Given the description of an element on the screen output the (x, y) to click on. 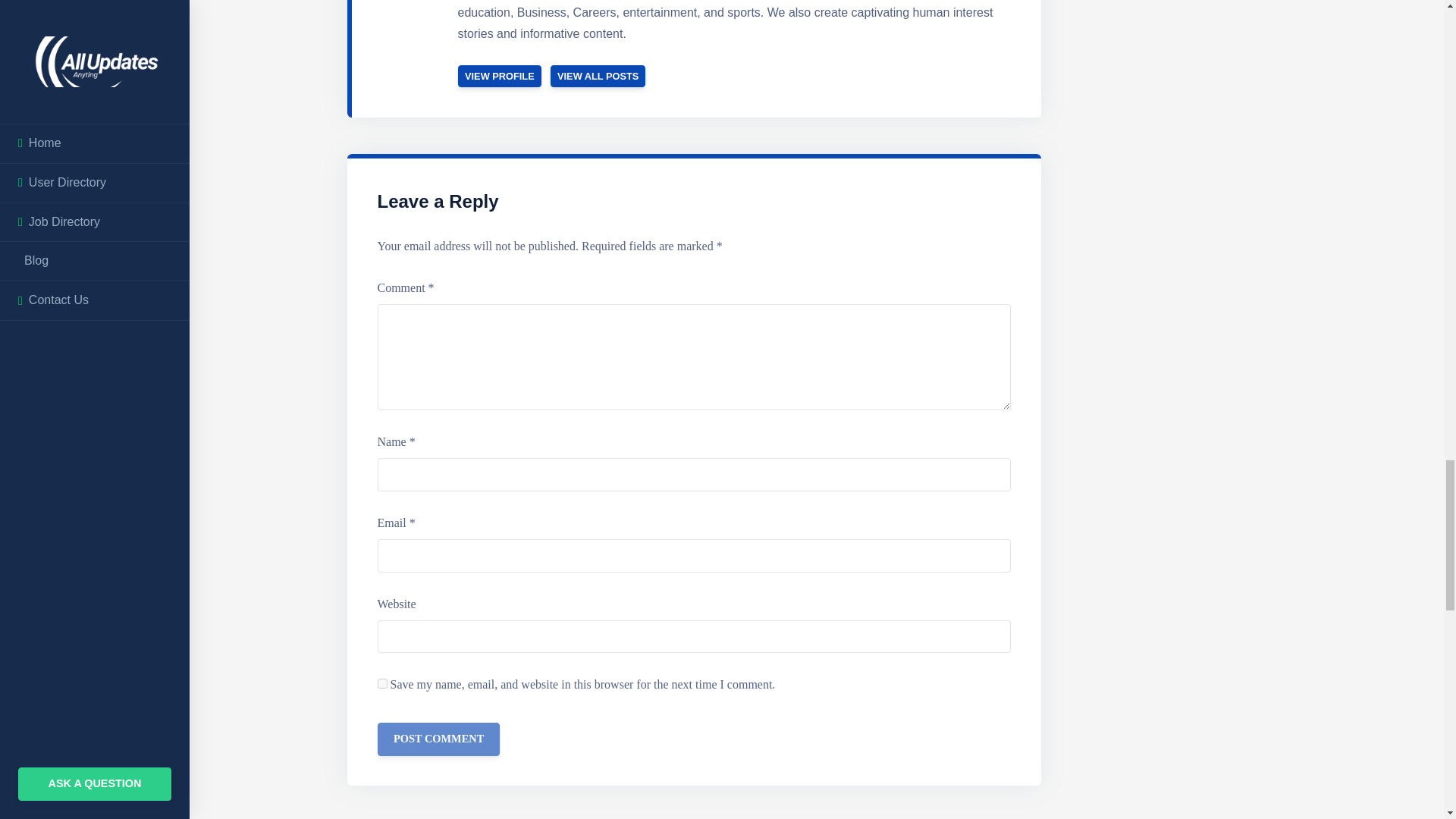
Post Comment (438, 738)
VIEW ALL POSTS (597, 75)
VIEW PROFILE (499, 75)
Post Comment (438, 738)
yes (382, 683)
